Given the description of an element on the screen output the (x, y) to click on. 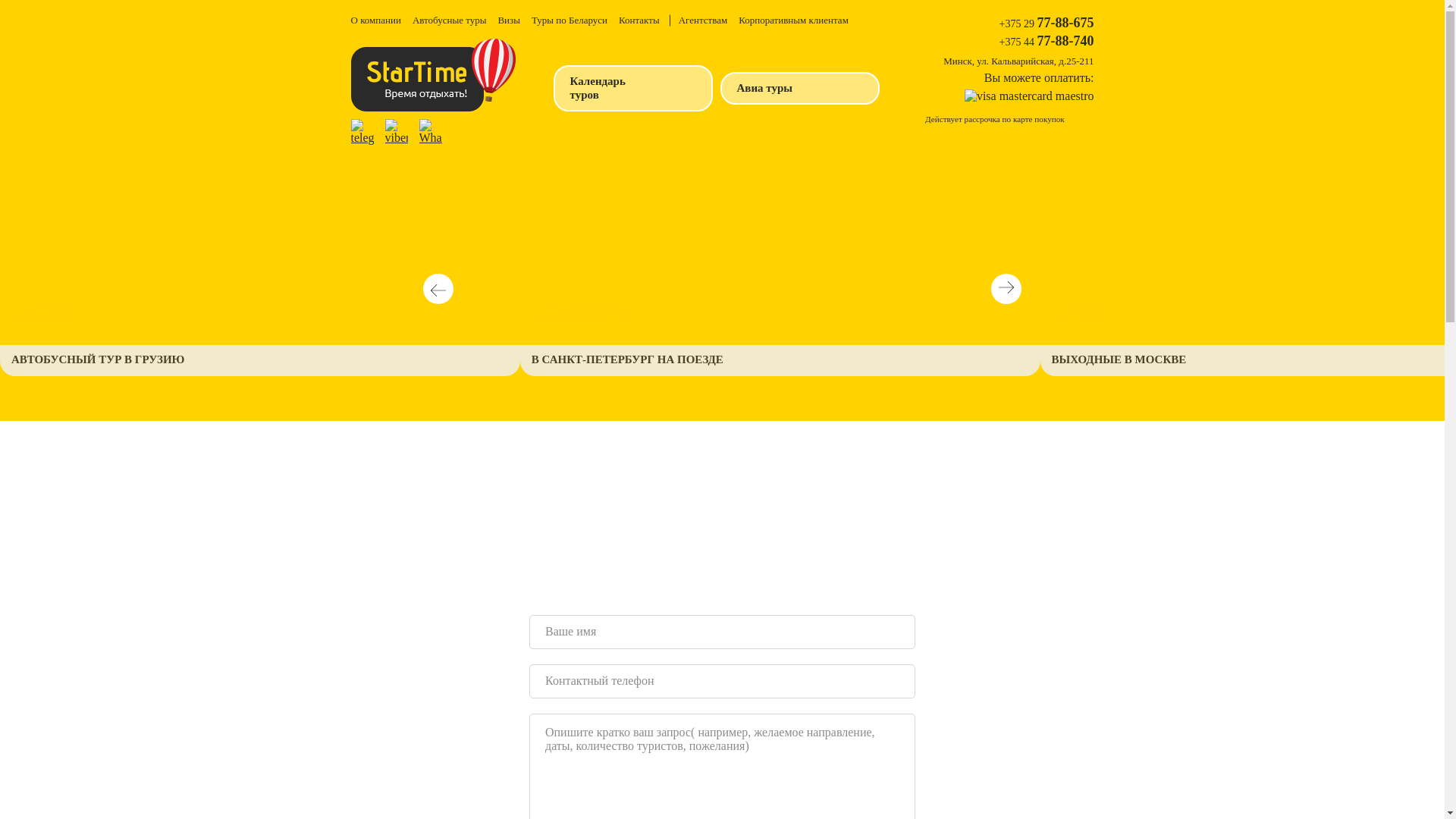
+375 29 77-88-675 Element type: text (1046, 23)
+375 44 77-88-740 Element type: text (1046, 41)
